Given the description of an element on the screen output the (x, y) to click on. 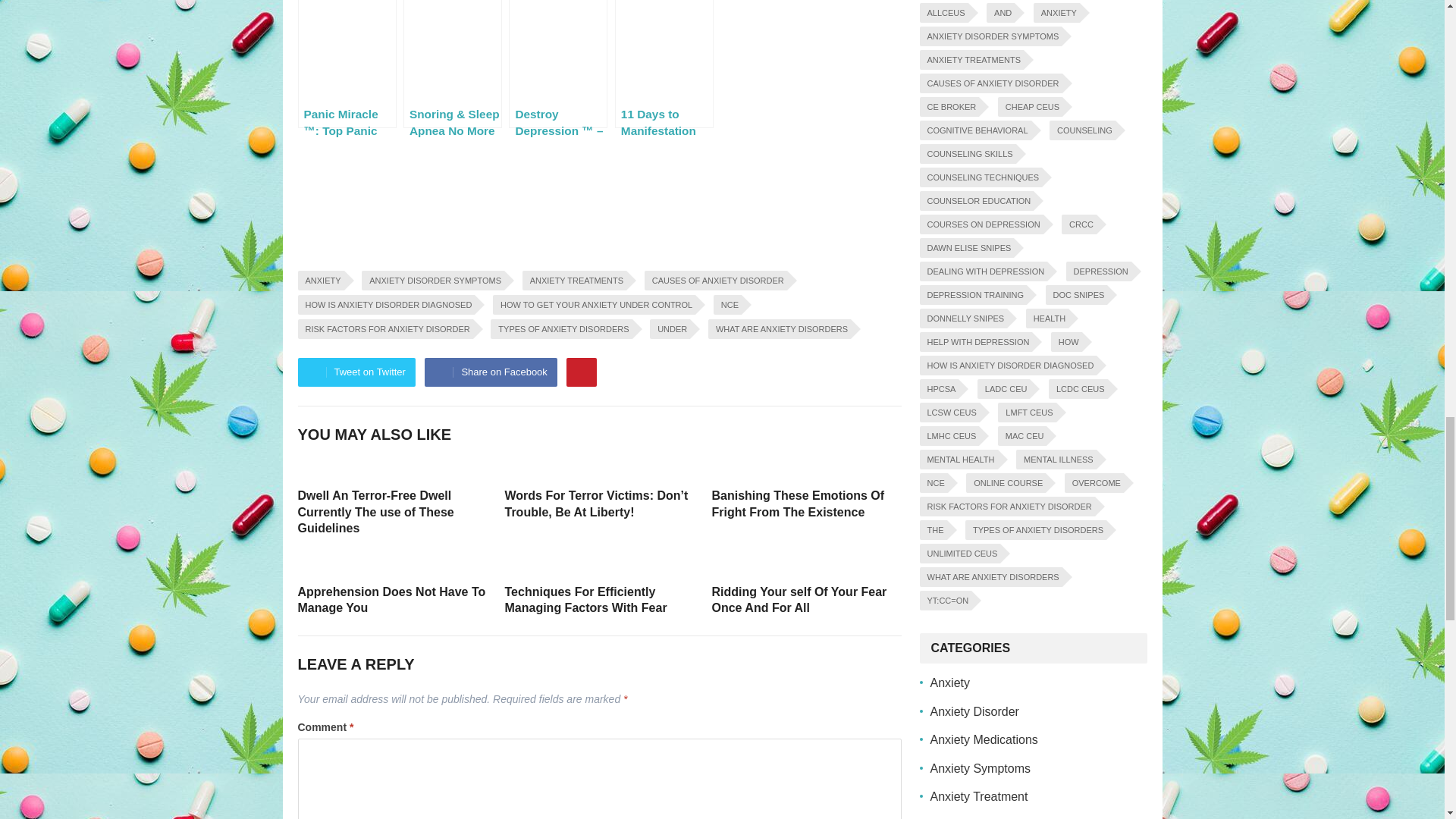
TYPES OF ANXIETY DISORDERS (560, 329)
ANXIETY TREATMENTS (574, 280)
RISK FACTORS FOR ANXIETY DISORDER (384, 329)
HOW TO GET YOUR ANXIETY UNDER CONTROL (594, 304)
CAUSES OF ANXIETY DISORDER (716, 280)
NCE (727, 304)
HOW IS ANXIETY DISORDER DIAGNOSED (385, 304)
ANXIETY (320, 280)
ANXIETY DISORDER SYMPTOMS (432, 280)
